Given the description of an element on the screen output the (x, y) to click on. 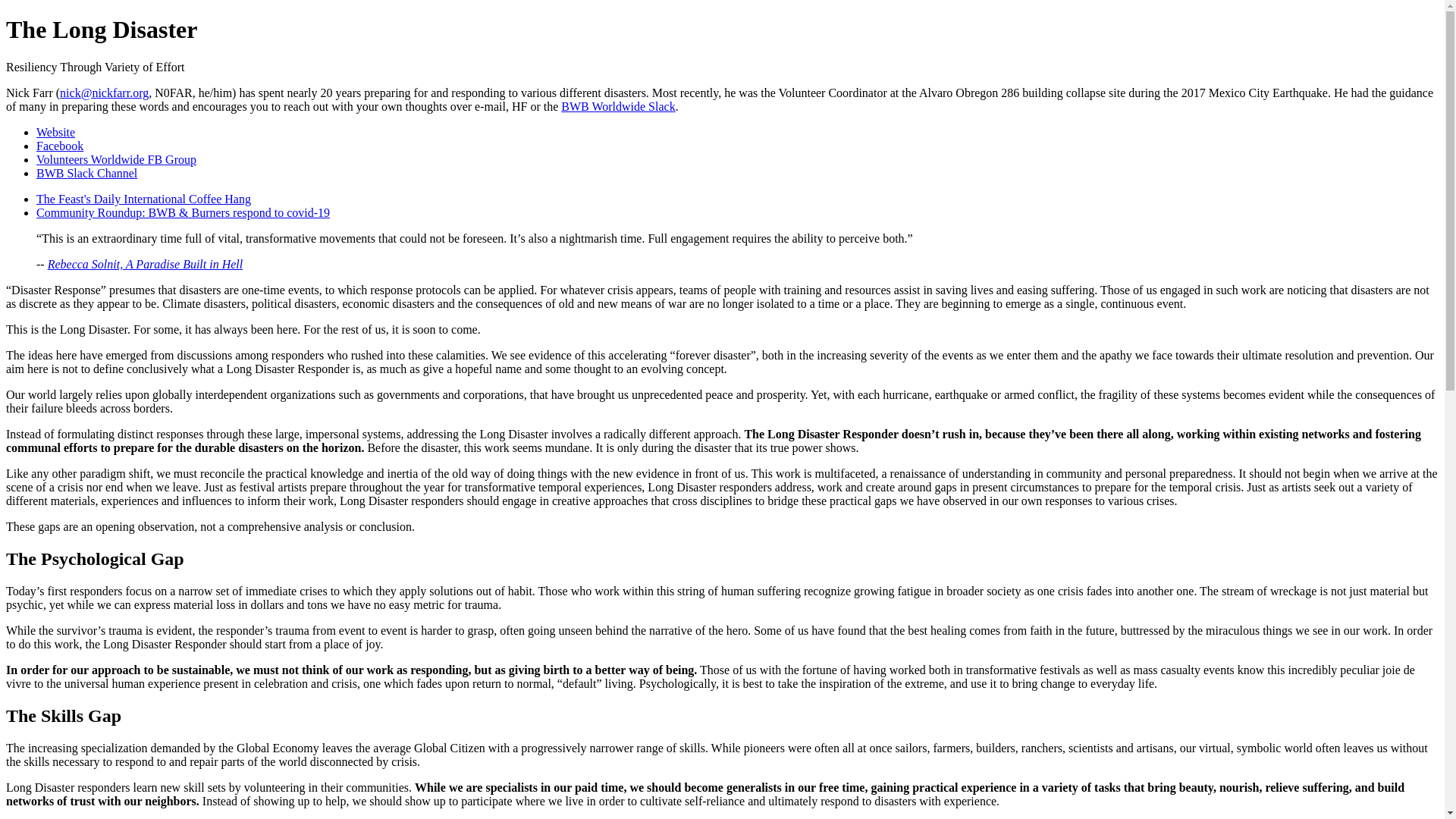
Website (55, 132)
BWB Slack Channel (86, 173)
Rebecca Solnit, A Paradise Built in Hell (145, 264)
Facebook (59, 145)
BWB Worldwide Slack (617, 106)
Volunteers Worldwide FB Group (116, 159)
The Feast's Daily International Coffee Hang (143, 198)
